Given the description of an element on the screen output the (x, y) to click on. 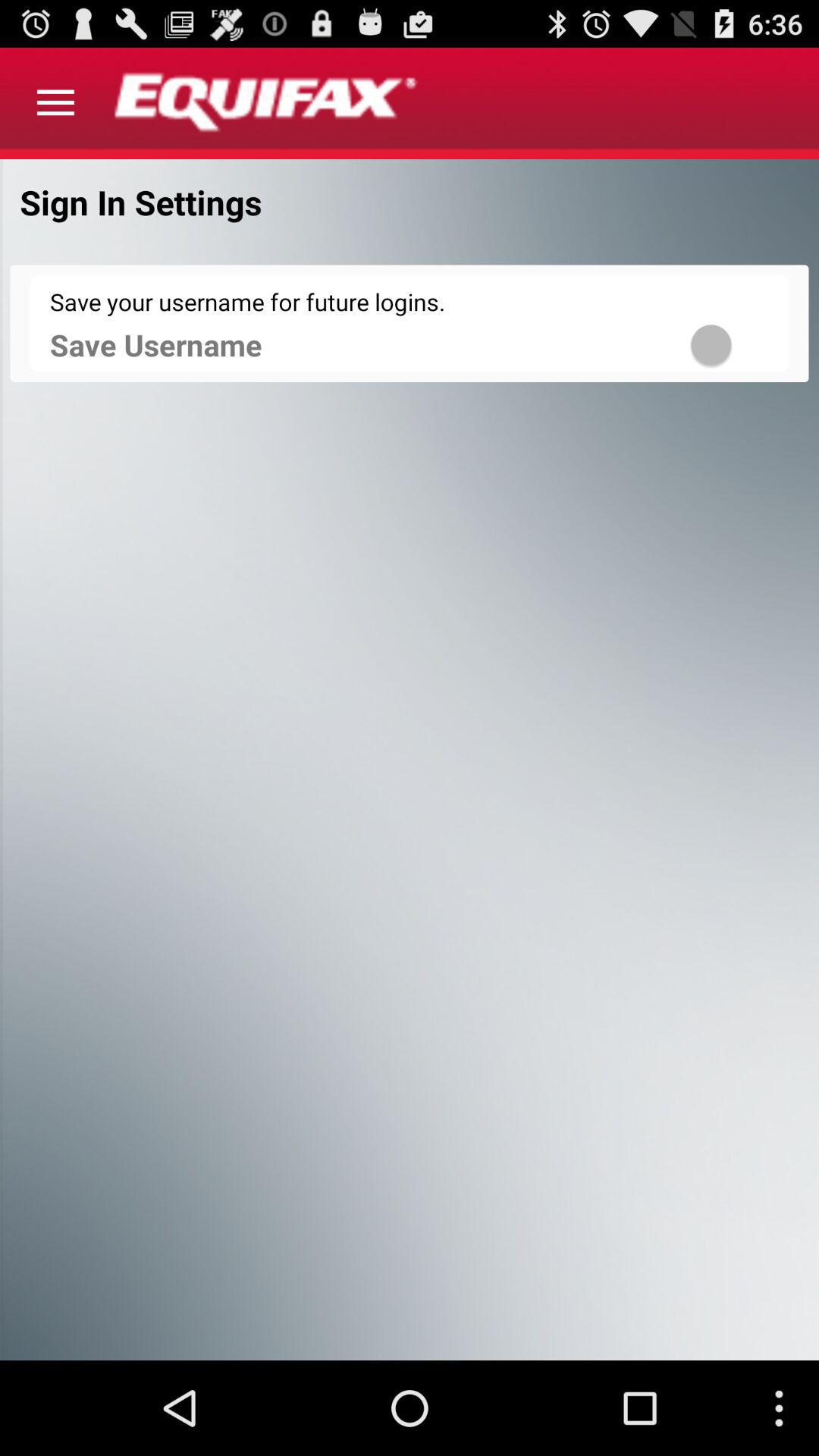
launch the item above the sign in settings item (55, 103)
